Given the description of an element on the screen output the (x, y) to click on. 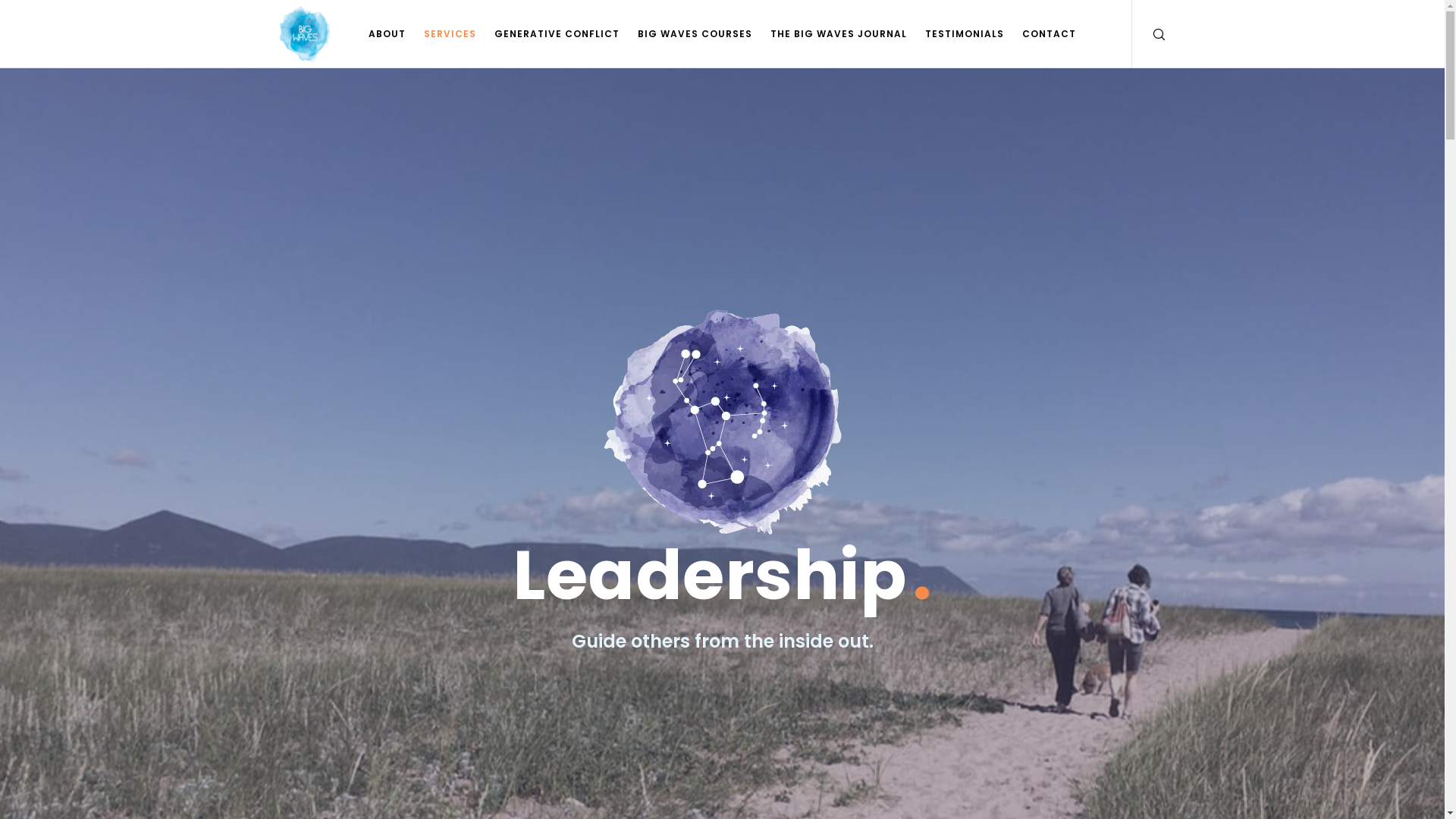
ABOUT Element type: text (386, 34)
BIG WAVES COURSES Element type: text (694, 34)
TESTIMONIALS Element type: text (964, 34)
GENERATIVE CONFLICT Element type: text (556, 34)
CONTACT Element type: text (1049, 34)
SERVICES Element type: text (449, 34)
THE BIG WAVES JOURNAL Element type: text (838, 34)
